Given the description of an element on the screen output the (x, y) to click on. 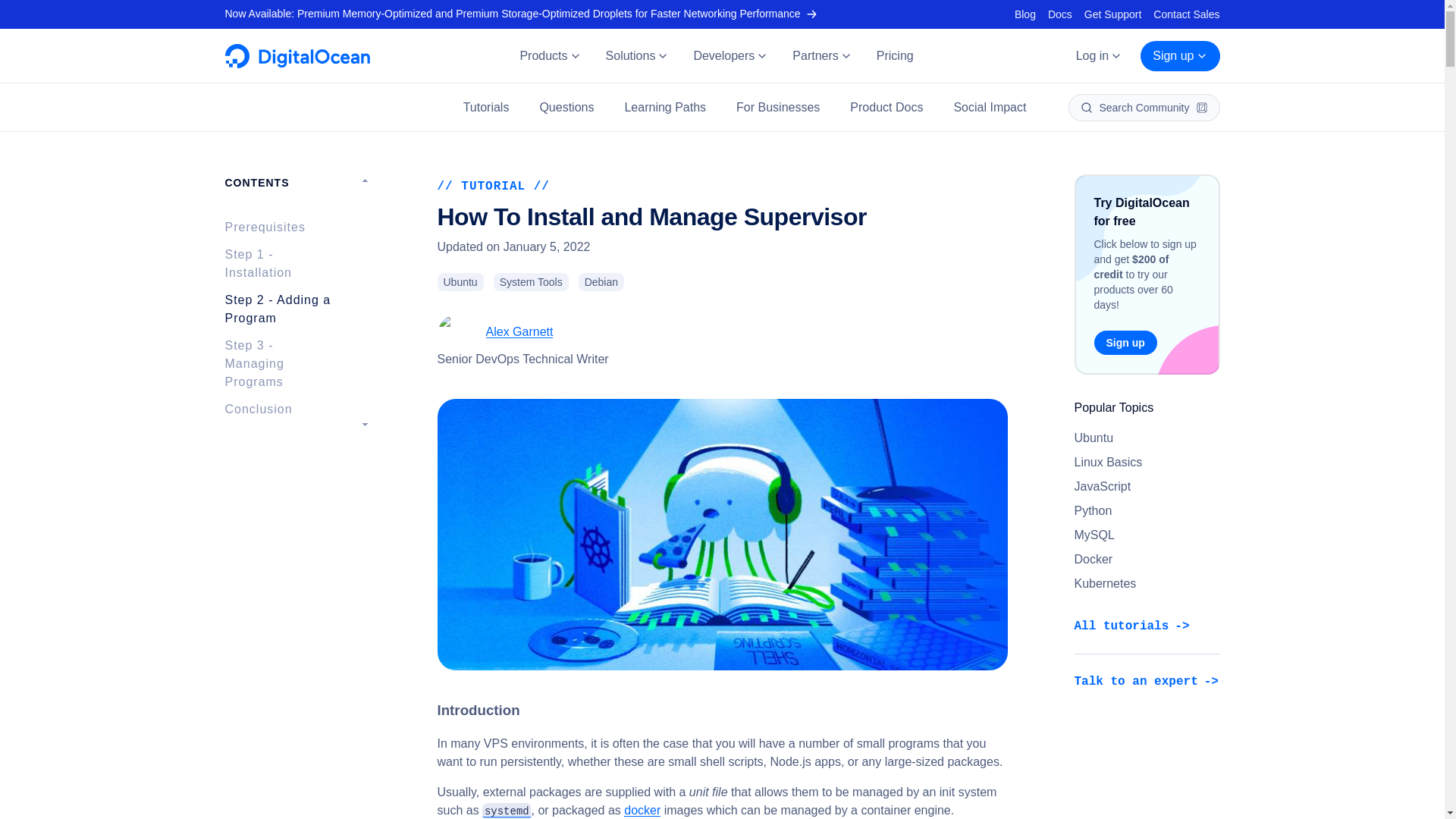
Contact Sales (1186, 14)
DigitalOcean (296, 63)
Blog (1024, 14)
Ubuntu (459, 281)
System Tools (531, 281)
Get Support (1112, 14)
Debian (601, 281)
Products (549, 55)
Docs (1059, 14)
